Given the description of an element on the screen output the (x, y) to click on. 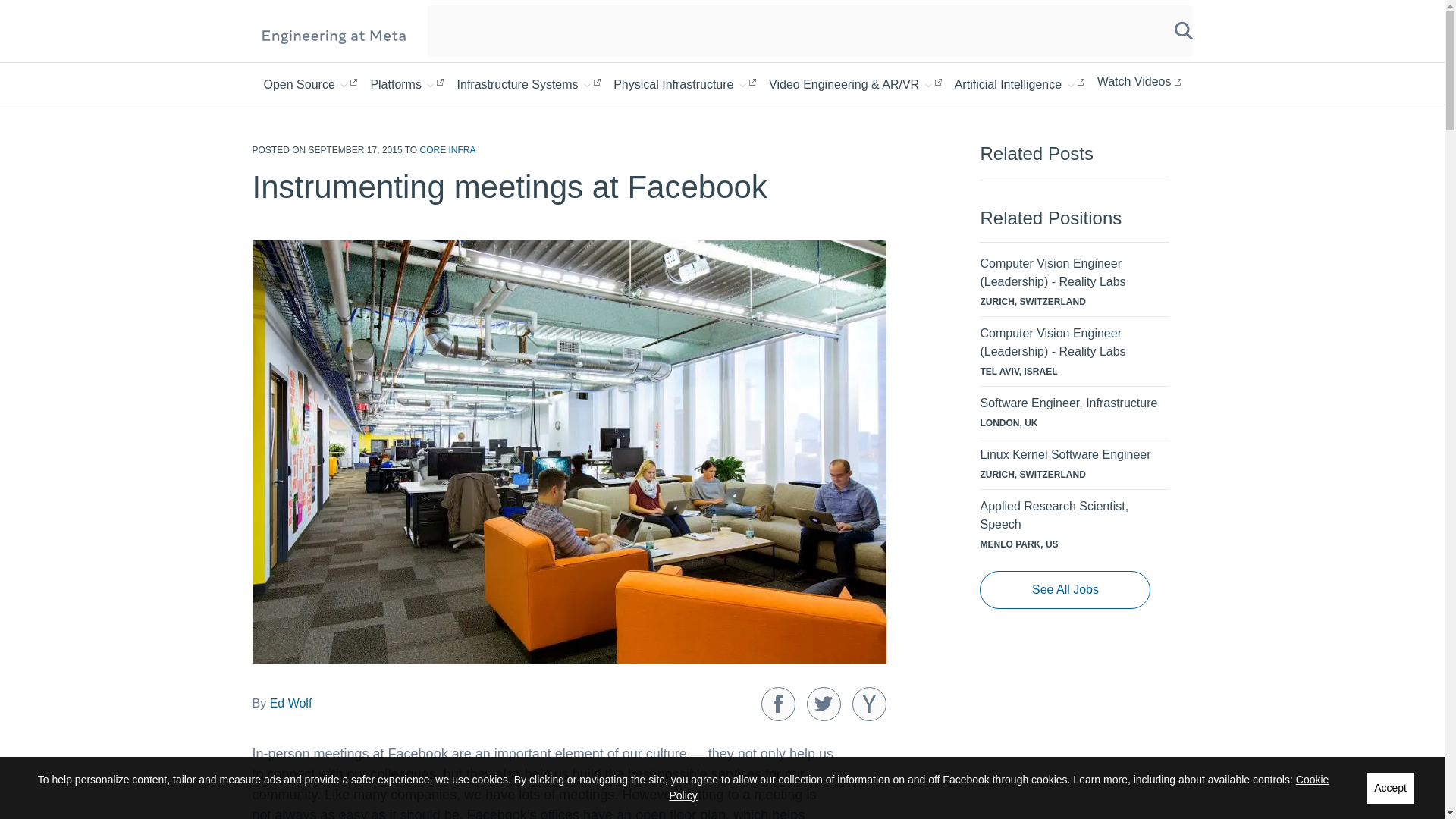
CORE INFRA (447, 149)
Infrastructure Systems (529, 83)
Artificial Intelligence (1019, 83)
Open Source (310, 83)
Open Source (310, 83)
Physical Infrastructure (683, 83)
Platforms (406, 83)
Watch Videos (1138, 81)
Platforms (406, 83)
Infrastructure Systems (529, 83)
Engineering at Meta (332, 35)
Ed Wolf (291, 703)
